Given the description of an element on the screen output the (x, y) to click on. 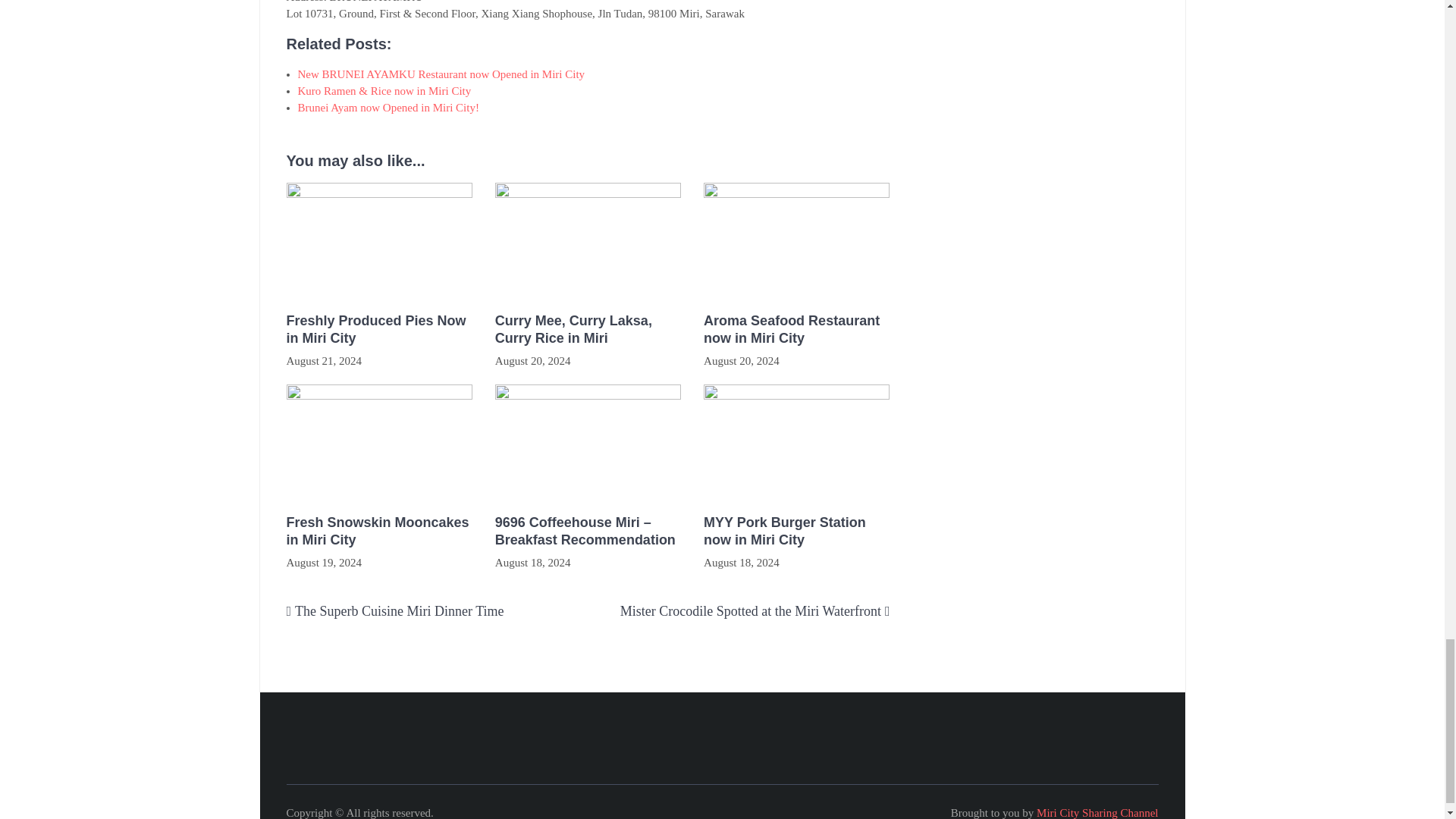
Aroma Seafood Restaurant now in Miri City (796, 330)
New BRUNEI AYAMKU Restaurant now Opened in Miri City (441, 73)
Fresh Snowskin Mooncakes in Miri City (378, 531)
MYY Pork Burger Station now in Miri City (796, 531)
Curry Mee, Curry Laksa, Curry Rice in Miri (588, 330)
Mister Crocodile Spotted at the Miri Waterfront (750, 611)
The Superb Cuisine Miri Dinner Time (399, 611)
Freshly Produced Pies Now in Miri City (378, 330)
Brunei Ayam now Opened in Miri City! (388, 107)
